Given the description of an element on the screen output the (x, y) to click on. 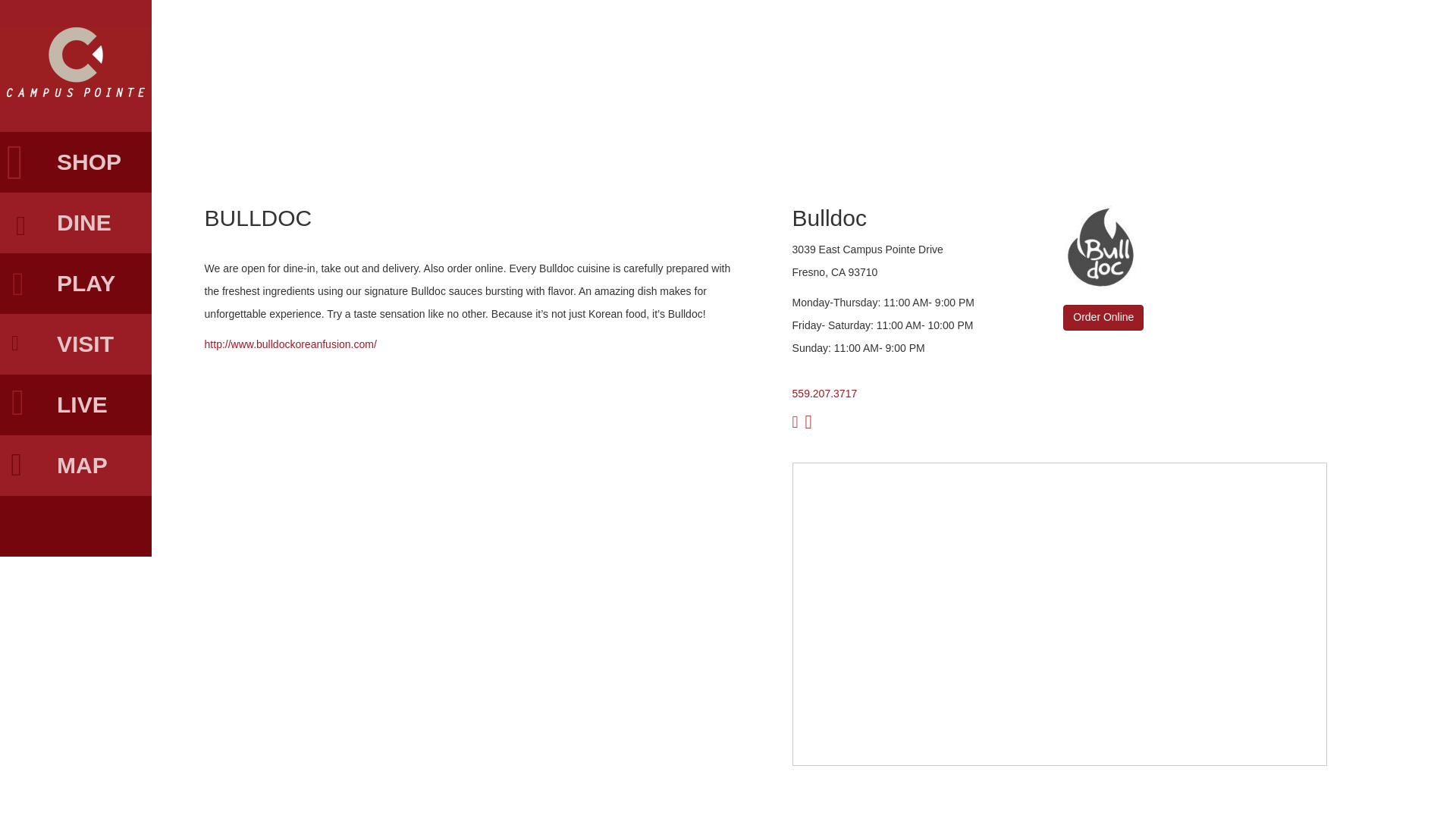
VISIT (75, 343)
DINE (75, 222)
MAP (75, 465)
SHOP (75, 161)
PLAY (75, 283)
FRESNO STATE (75, 526)
LIVE (75, 404)
